Given the description of an element on the screen output the (x, y) to click on. 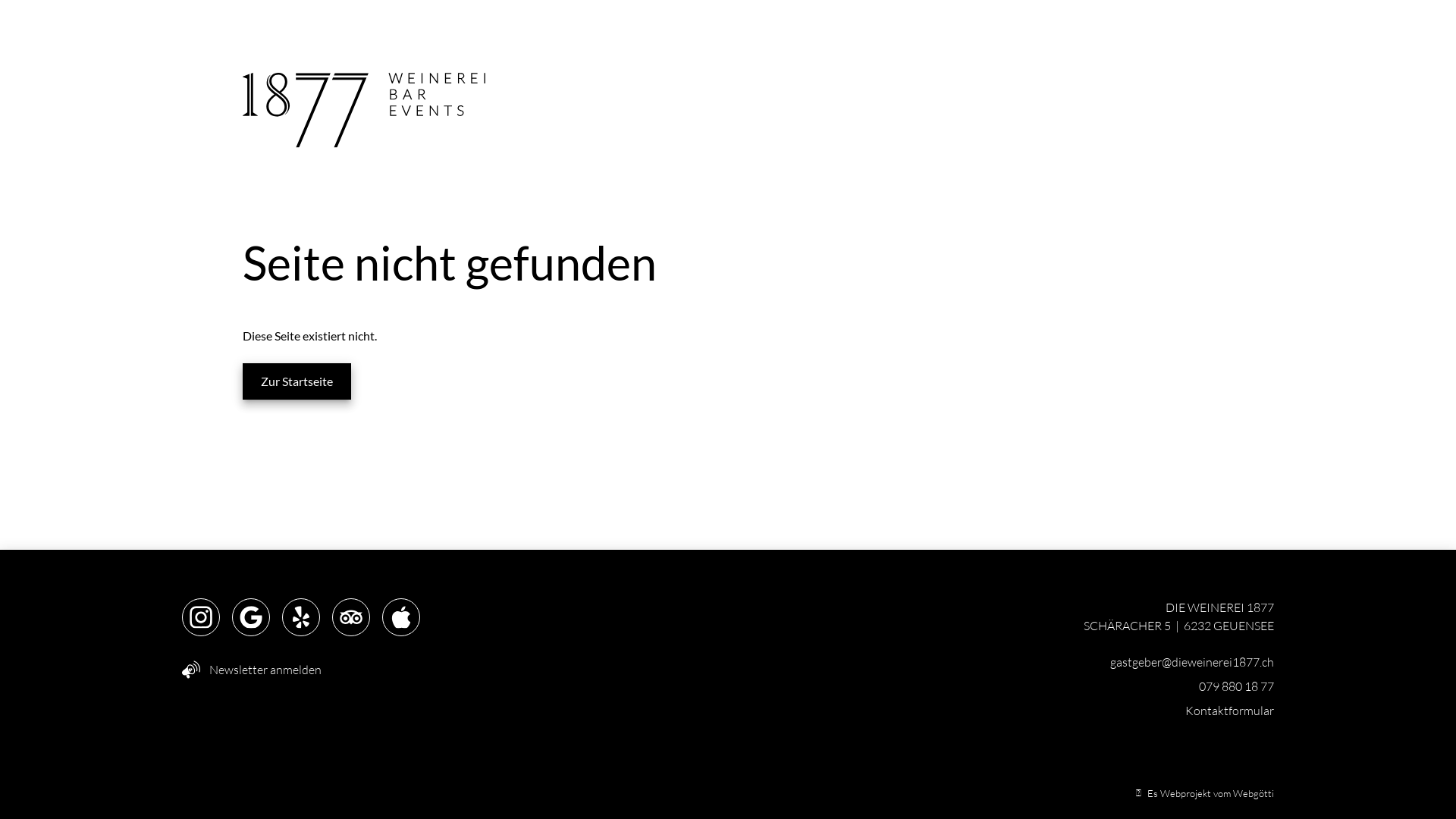
gastgeber@dieweinerei1877.ch Element type: text (1192, 661)
1877 | Weinerei, Bar, Events Element type: text (363, 112)
Zur Startseite Element type: text (296, 381)
079 880 18 77 Element type: text (1236, 685)
Kontaktformular Element type: text (1229, 710)
Newsletter anmelden Element type: text (251, 669)
